Given the description of an element on the screen output the (x, y) to click on. 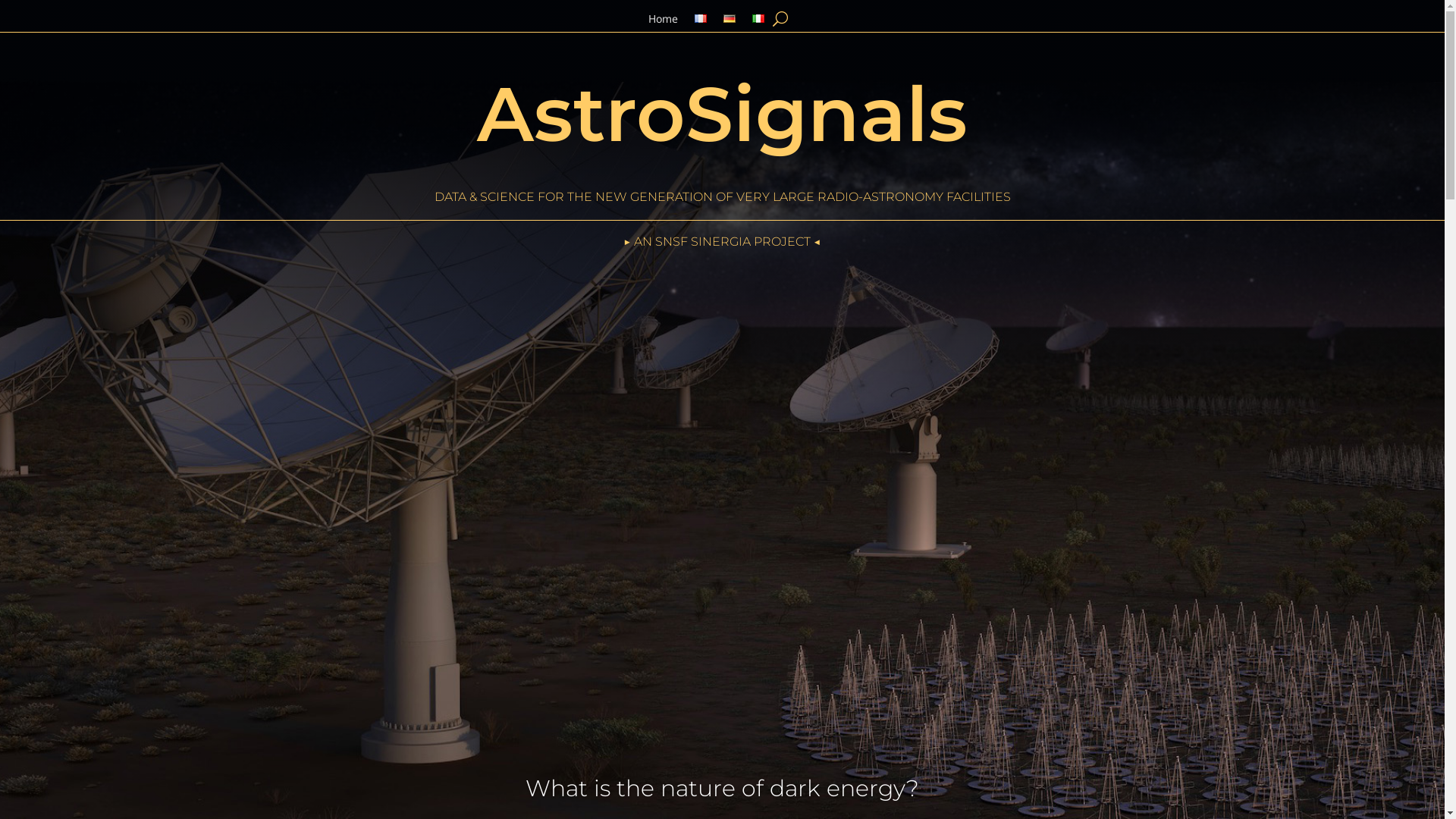
Home Element type: text (662, 21)
